Given the description of an element on the screen output the (x, y) to click on. 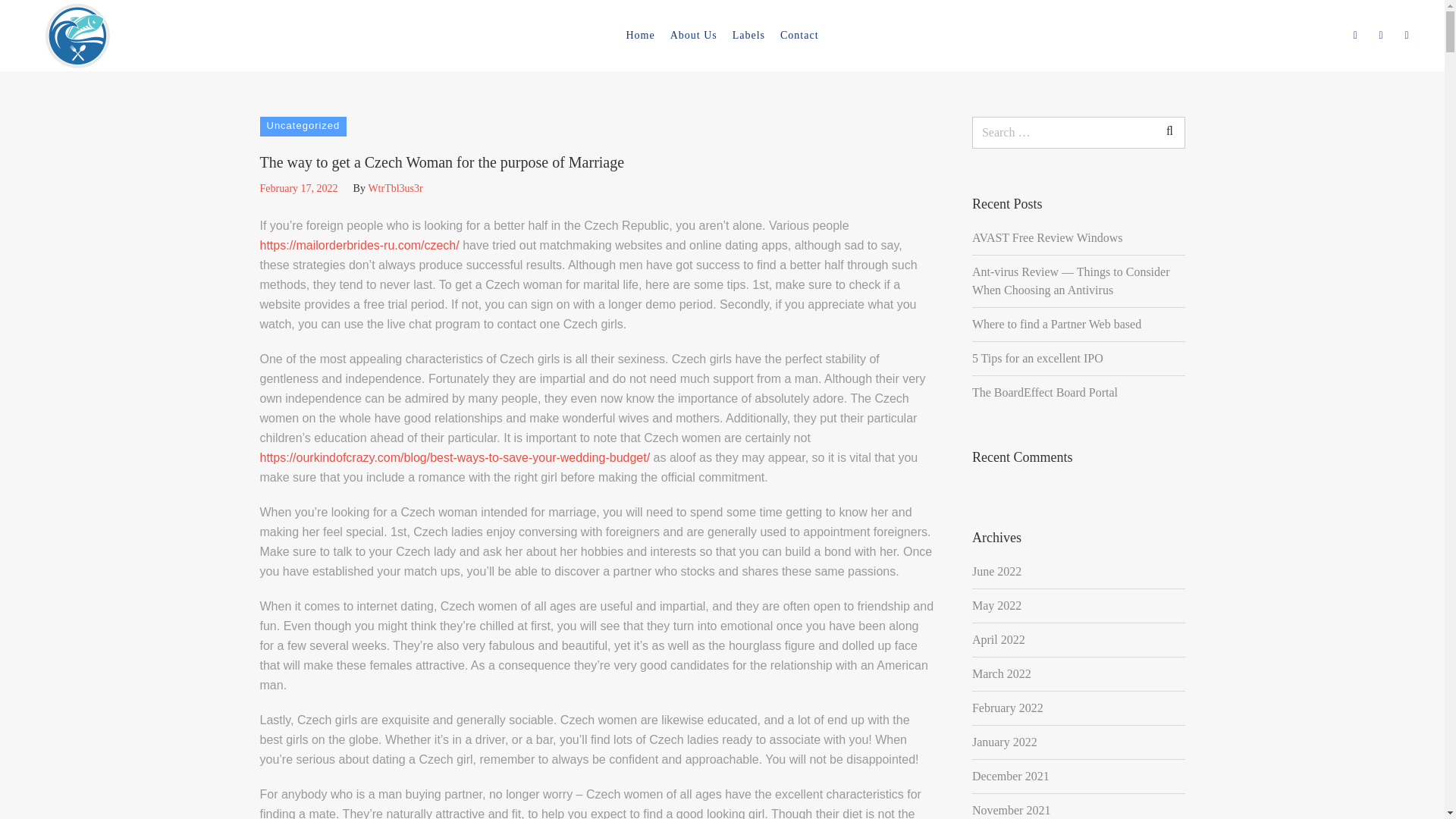
Home (639, 35)
February 17, 2022 (298, 188)
About Us (693, 35)
WtrTbl3us3r (395, 188)
Contact (799, 35)
Search (1169, 131)
Labels (748, 35)
Search (1177, 43)
